Given the description of an element on the screen output the (x, y) to click on. 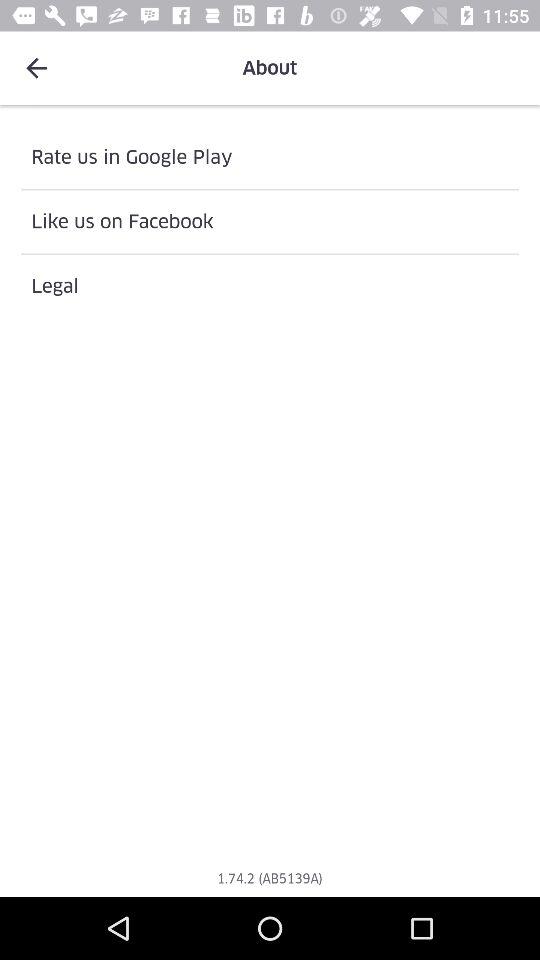
scroll to legal item (270, 286)
